Given the description of an element on the screen output the (x, y) to click on. 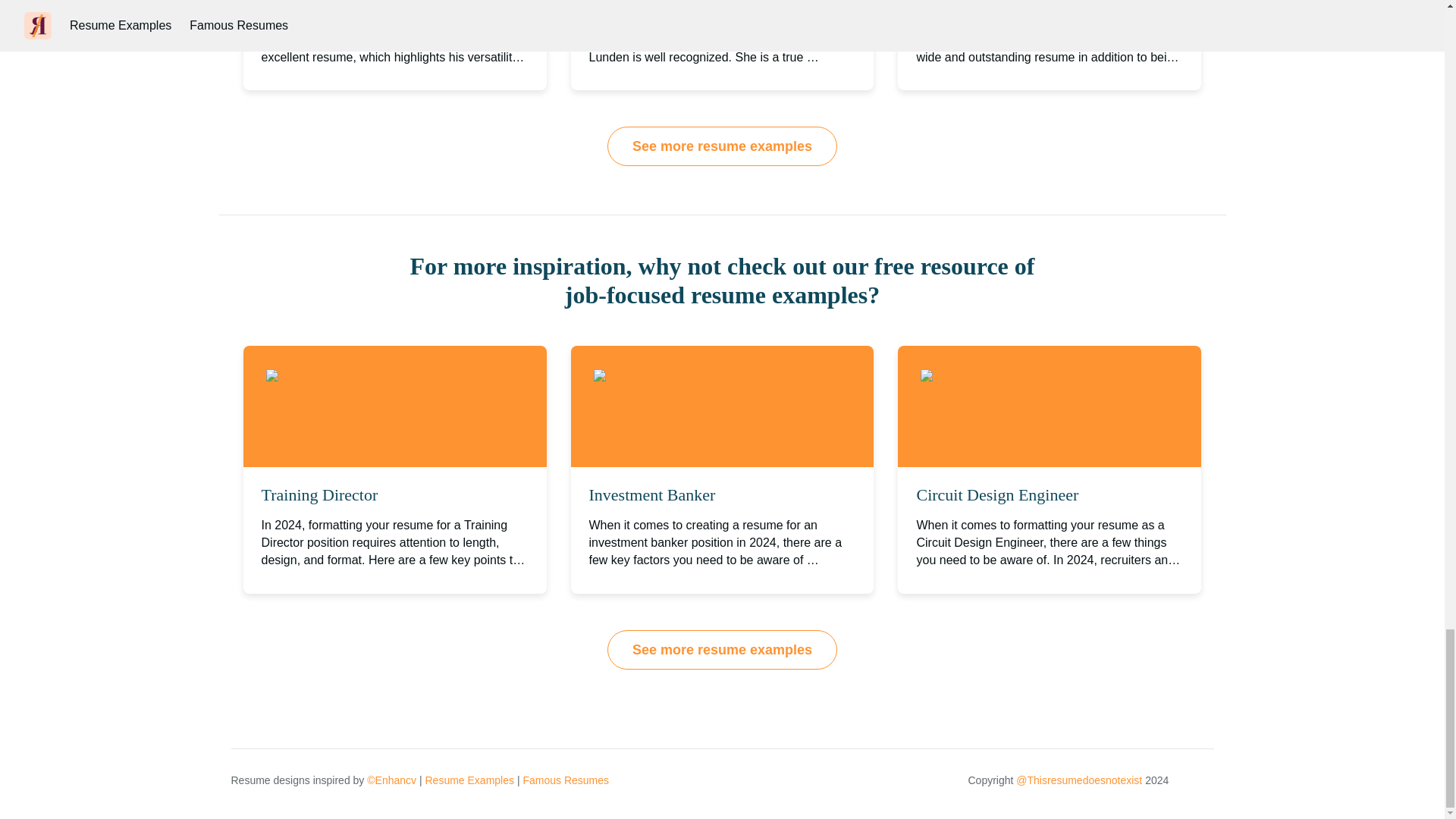
Chris O'Donnell's resume (395, 99)
See more resume examples (722, 146)
Investment Banker's resume (683, 376)
Joan Lunden's resume (721, 99)
Dwayne Johnson's resume (1048, 99)
Resume Examples (469, 779)
See more resume examples (722, 649)
Training Director's resume (352, 376)
Famous Resumes (565, 779)
Circuit Design Engineer's resume (1022, 376)
